Given the description of an element on the screen output the (x, y) to click on. 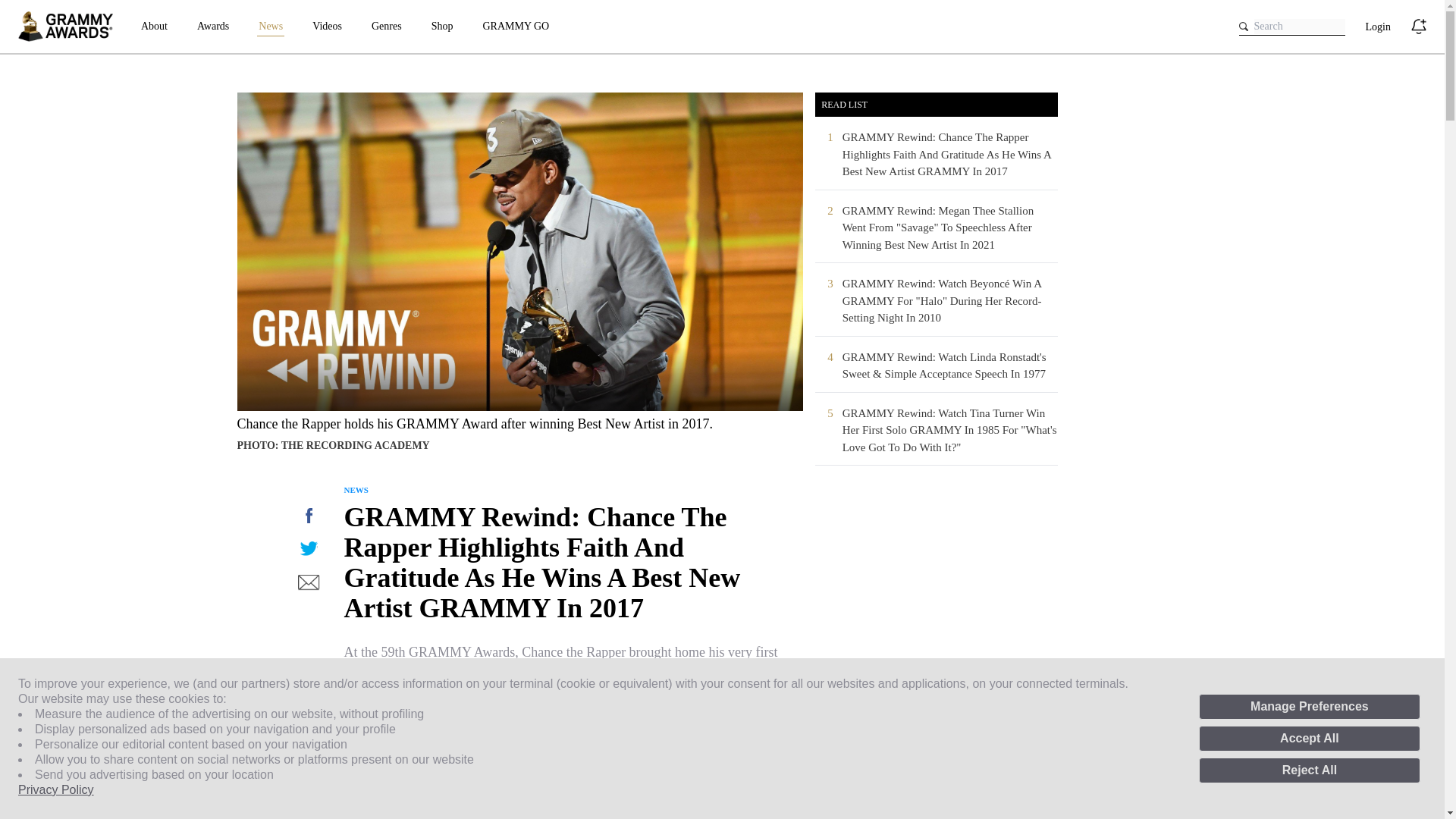
Awards (212, 26)
Reject All (1309, 769)
About (153, 26)
Manage Preferences (1309, 706)
Privacy Policy (55, 789)
Accept All (1309, 738)
